Given the description of an element on the screen output the (x, y) to click on. 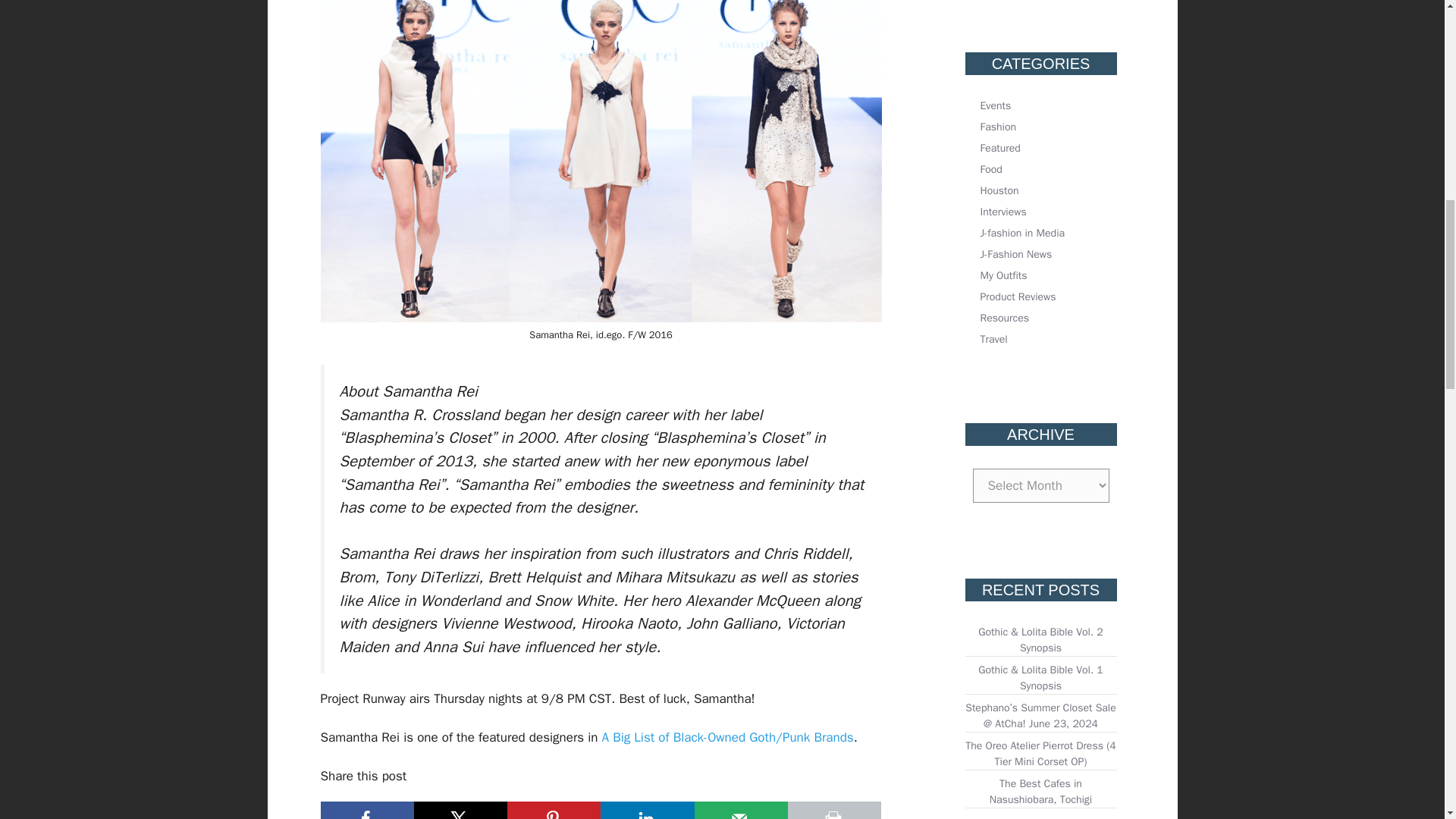
Share on LinkedIn (646, 810)
Send over email (740, 810)
Share on X (459, 810)
Share on Facebook (366, 810)
Save to Pinterest (552, 810)
Print this webpage (833, 810)
